Given the description of an element on the screen output the (x, y) to click on. 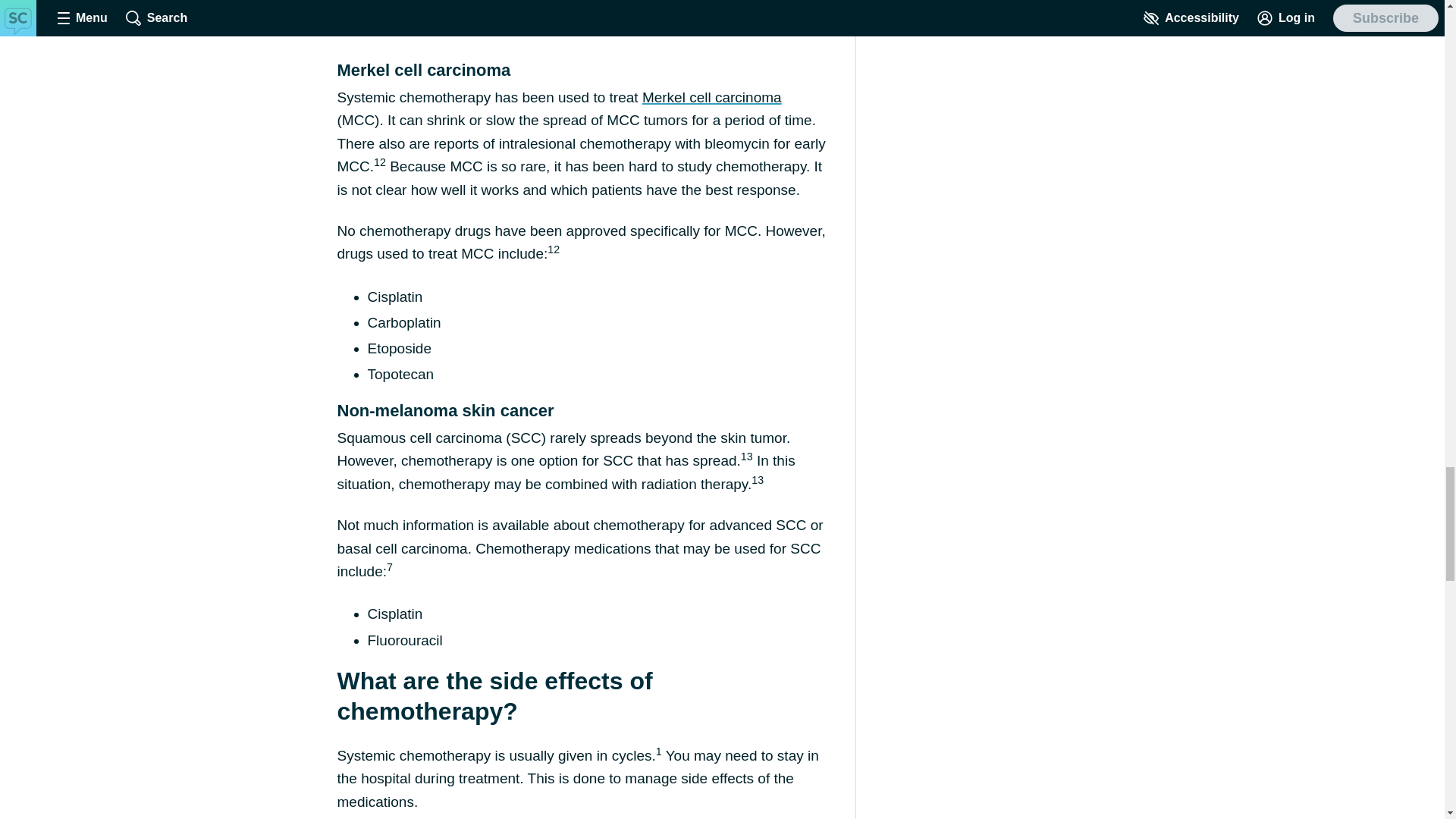
Merkel cell carcinoma (711, 97)
